Given the description of an element on the screen output the (x, y) to click on. 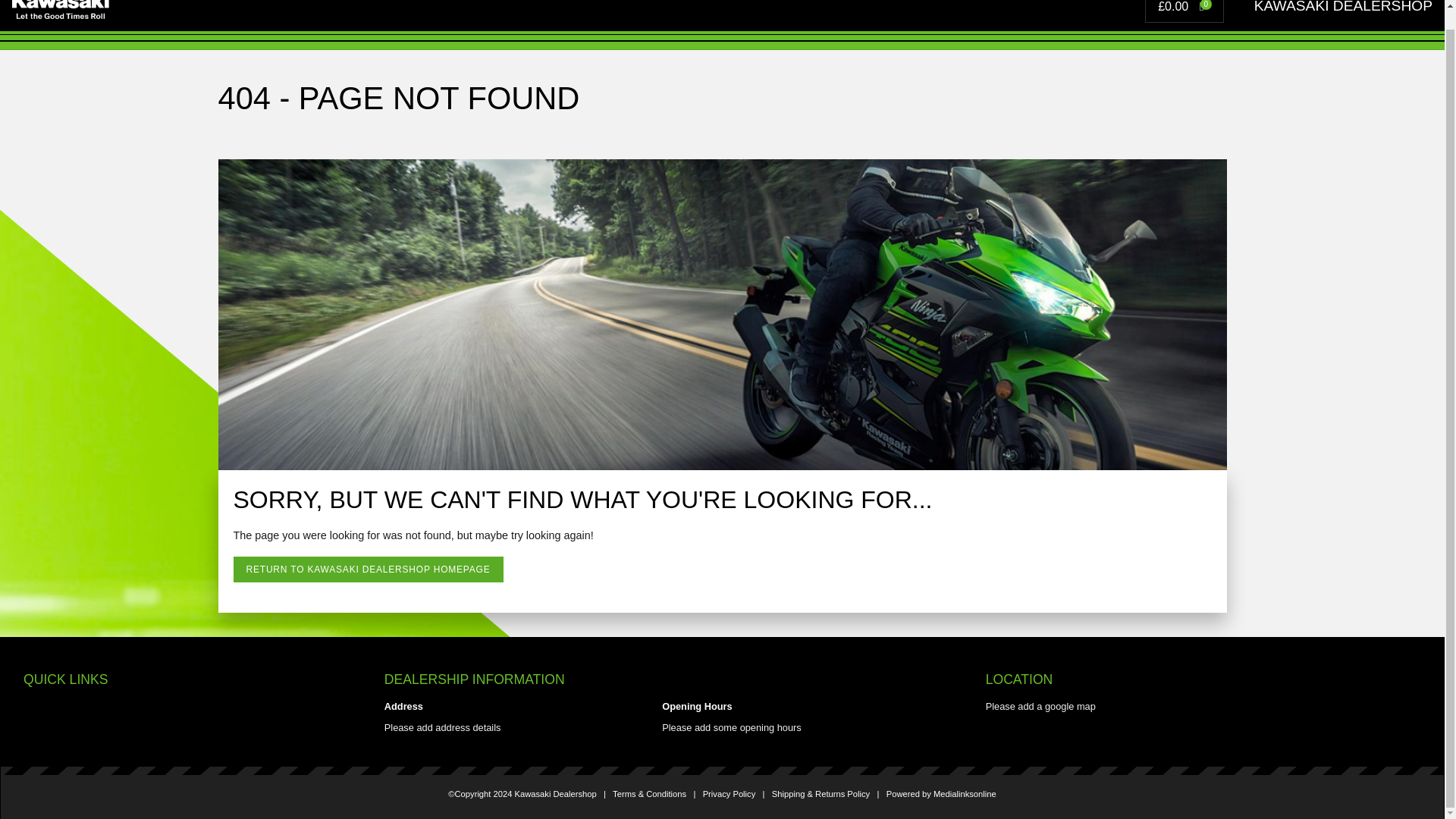
Privacy Policy (729, 793)
RETURN TO KAWASAKI DEALERSHOP HOMEPAGE (367, 569)
Powered by Medialinksonline (940, 793)
View your shopping cart (1186, 6)
